Given the description of an element on the screen output the (x, y) to click on. 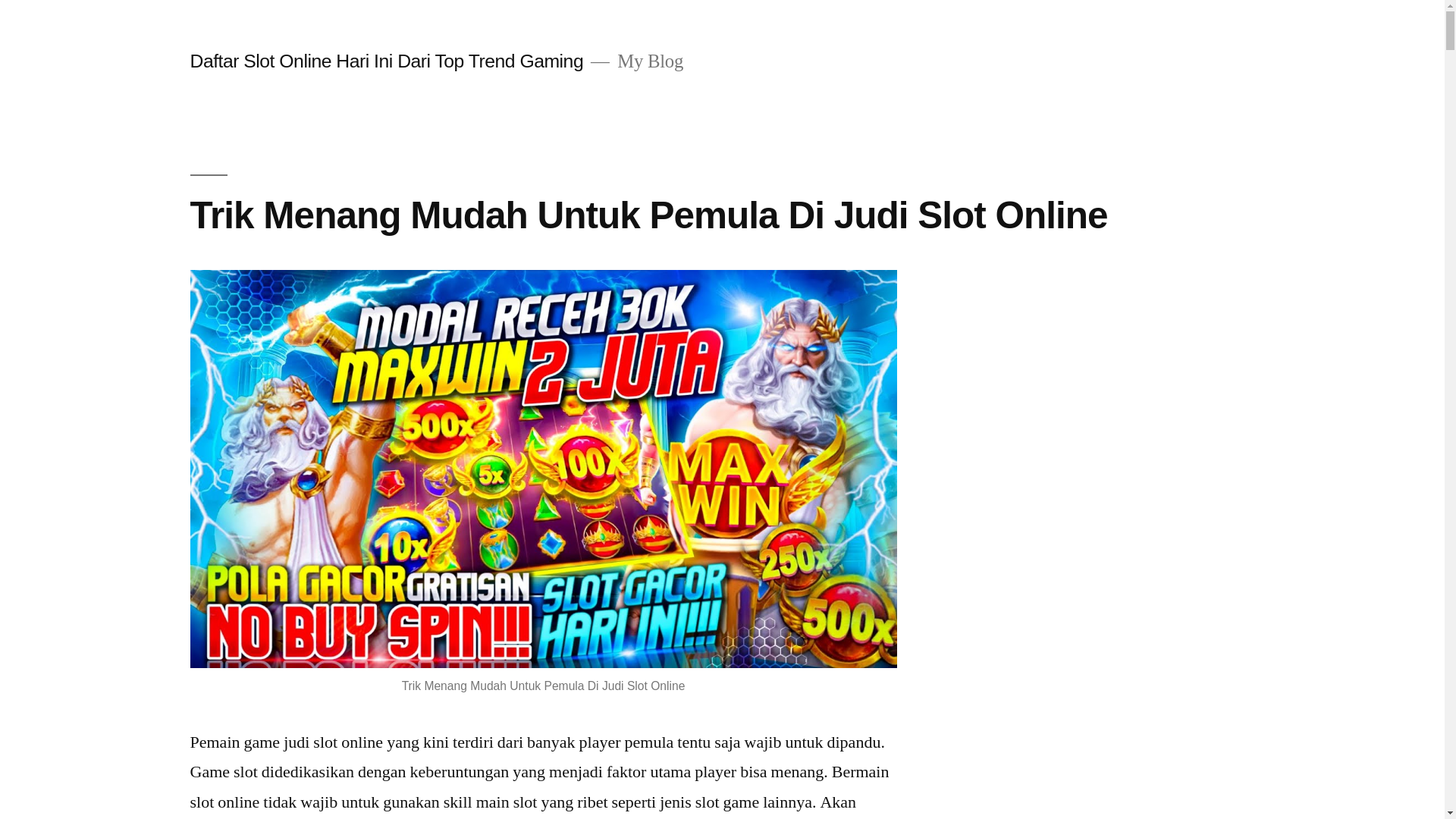
Trik Menang Mudah Untuk Pemula Di Judi Slot Online Element type: text (648, 214)
Daftar Slot Online Hari Ini Dari Top Trend Gaming Element type: text (386, 60)
